Given the description of an element on the screen output the (x, y) to click on. 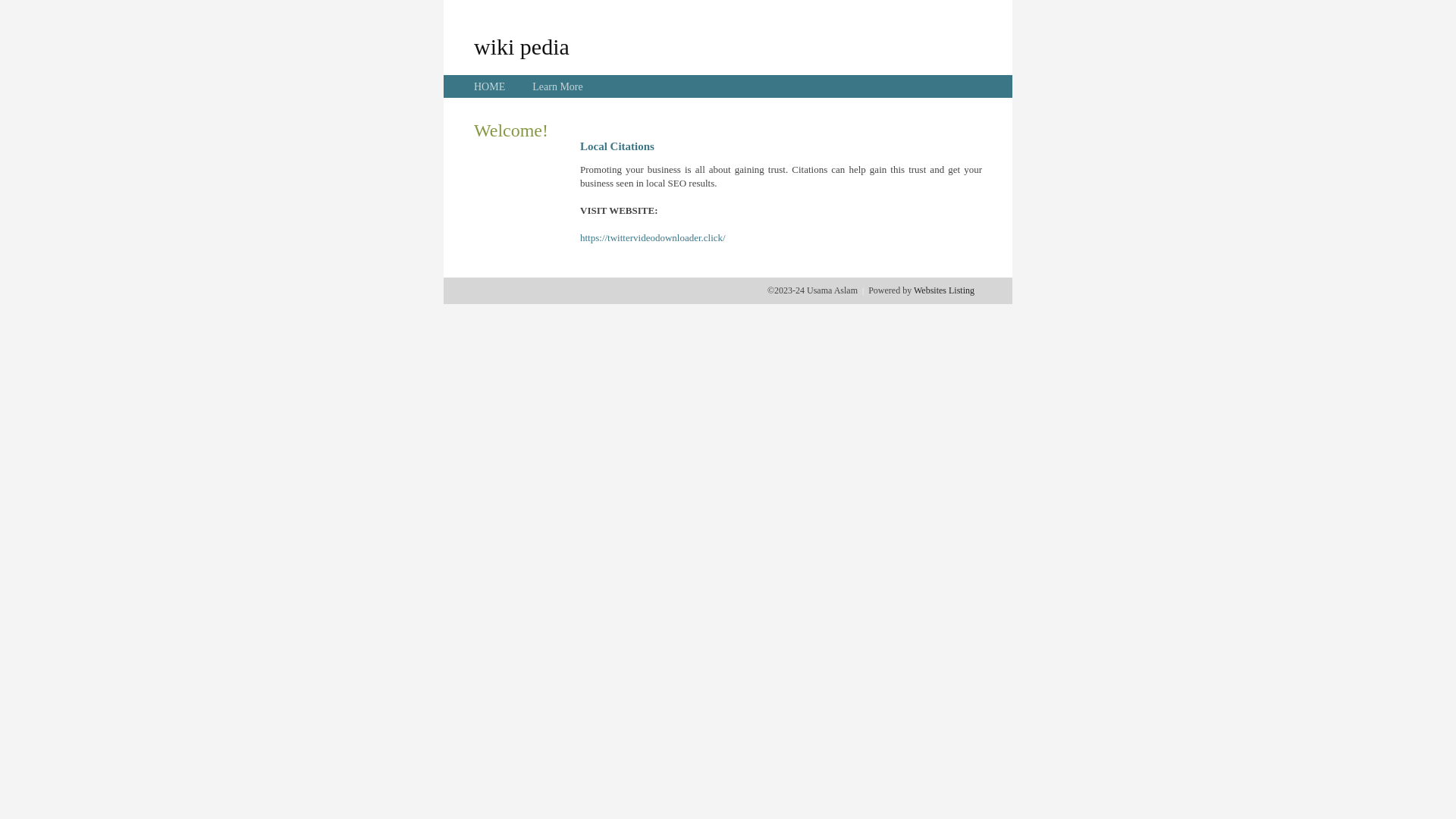
wiki pedia Element type: text (521, 46)
Websites Listing Element type: text (943, 290)
HOME Element type: text (489, 86)
Learn More Element type: text (557, 86)
https://twittervideodownloader.click/ Element type: text (652, 237)
